Given the description of an element on the screen output the (x, y) to click on. 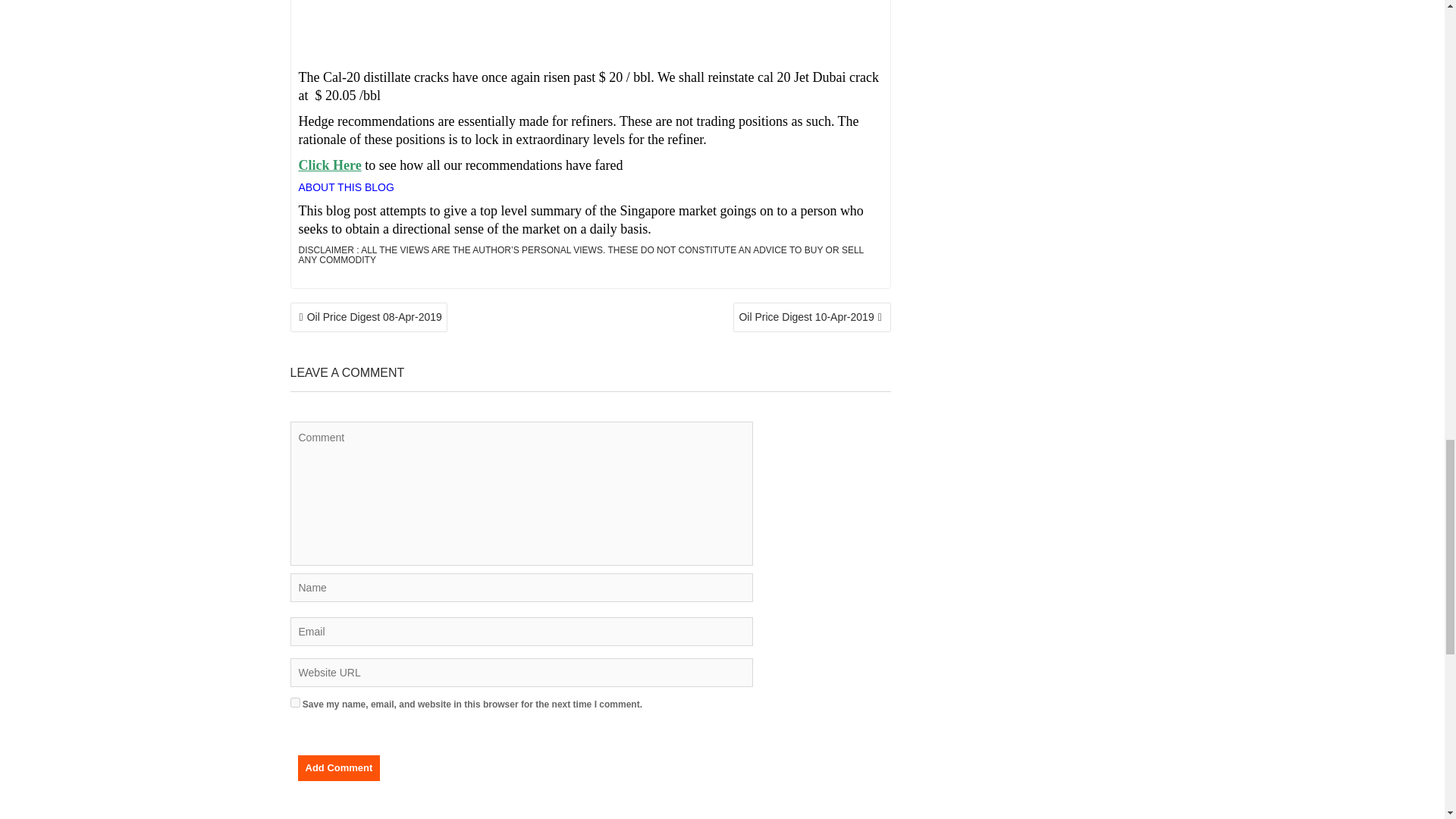
Oil Price Digest 08-Apr-2019 (367, 317)
Click Here (329, 165)
yes (294, 702)
Oil Price Digest 10-Apr-2019 (811, 317)
Add Comment (338, 768)
